Given the description of an element on the screen output the (x, y) to click on. 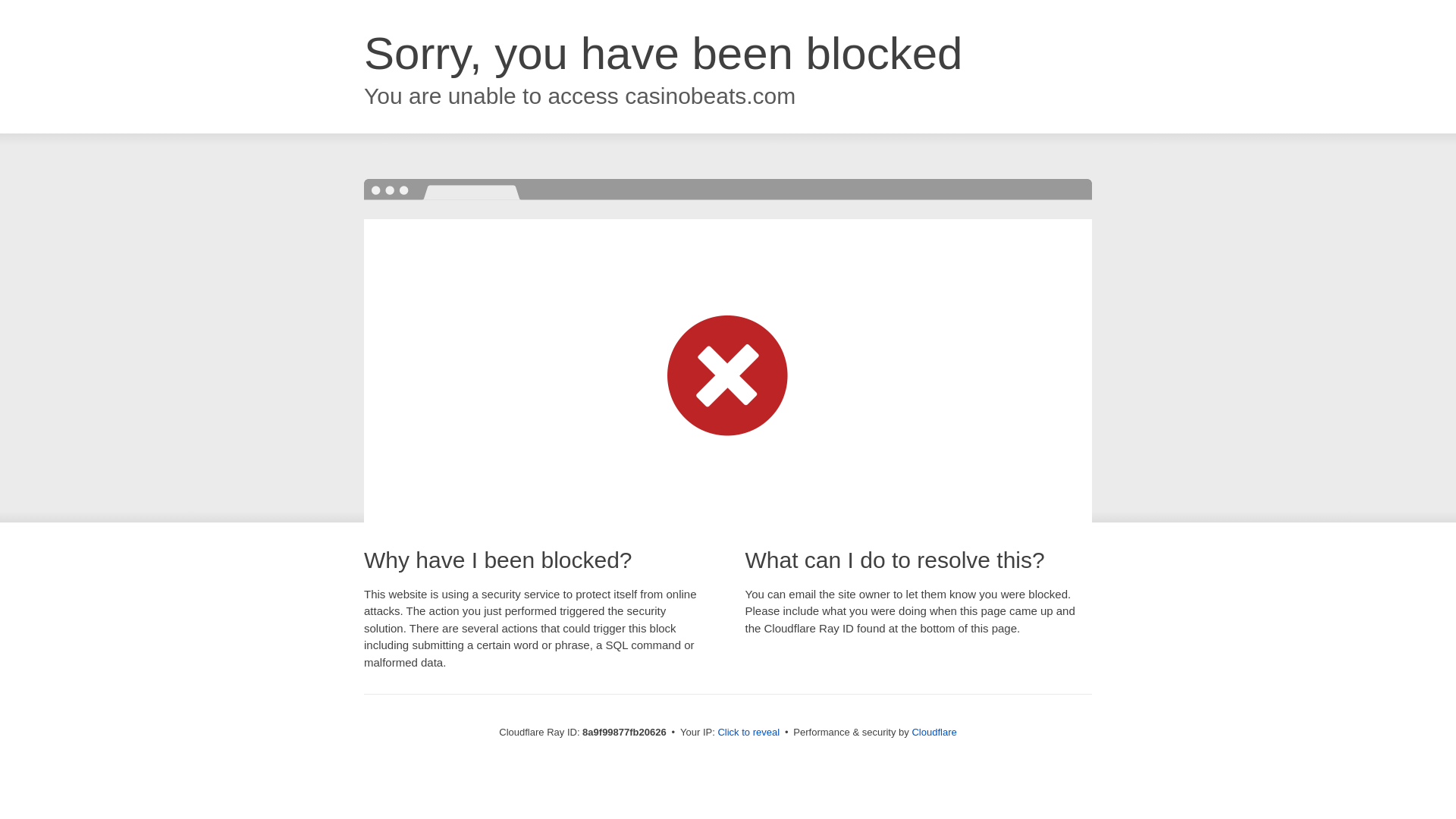
Click to reveal (747, 732)
Cloudflare (933, 731)
